Given the description of an element on the screen output the (x, y) to click on. 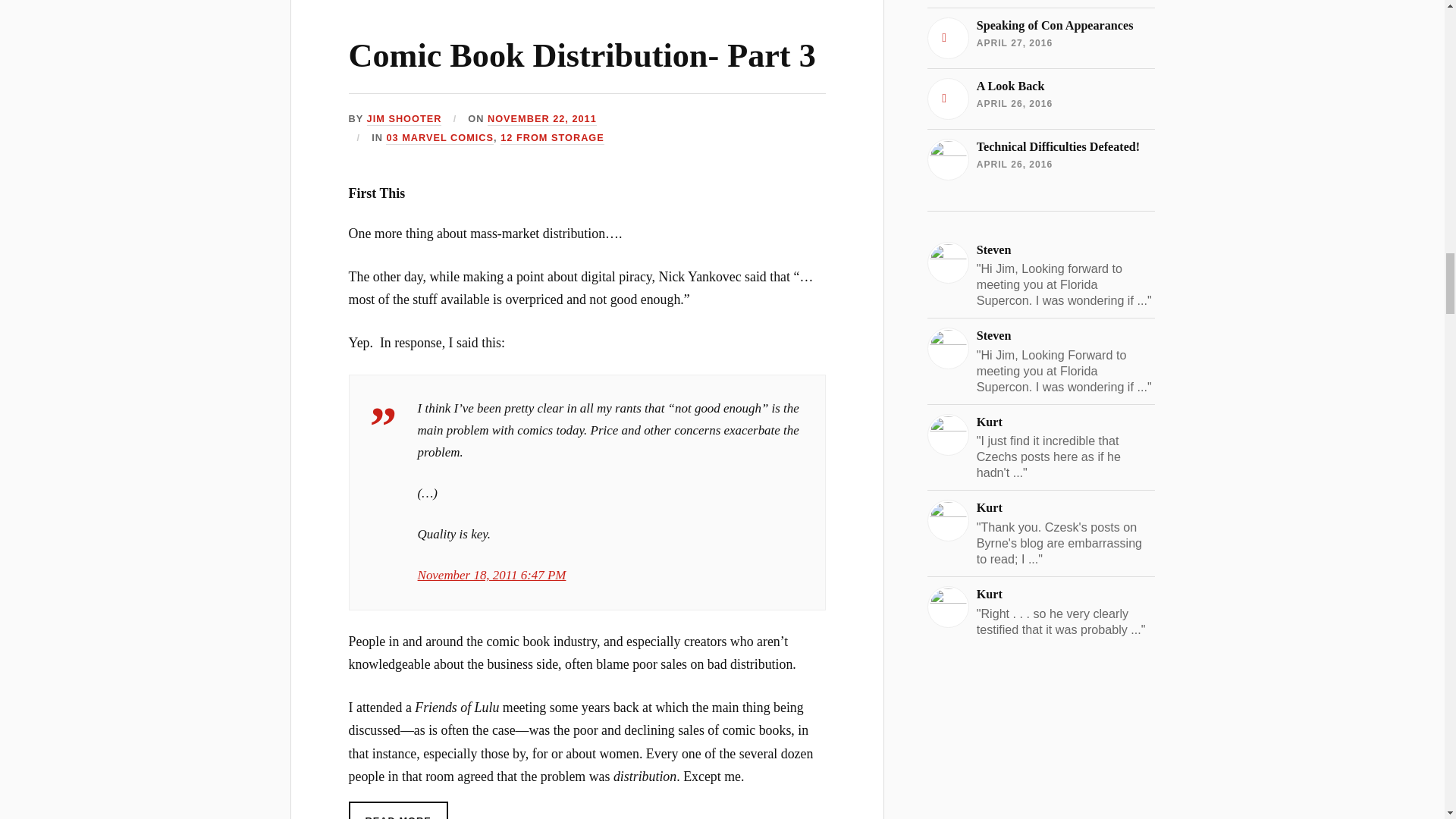
Posts by Jim Shooter (404, 119)
